Given the description of an element on the screen output the (x, y) to click on. 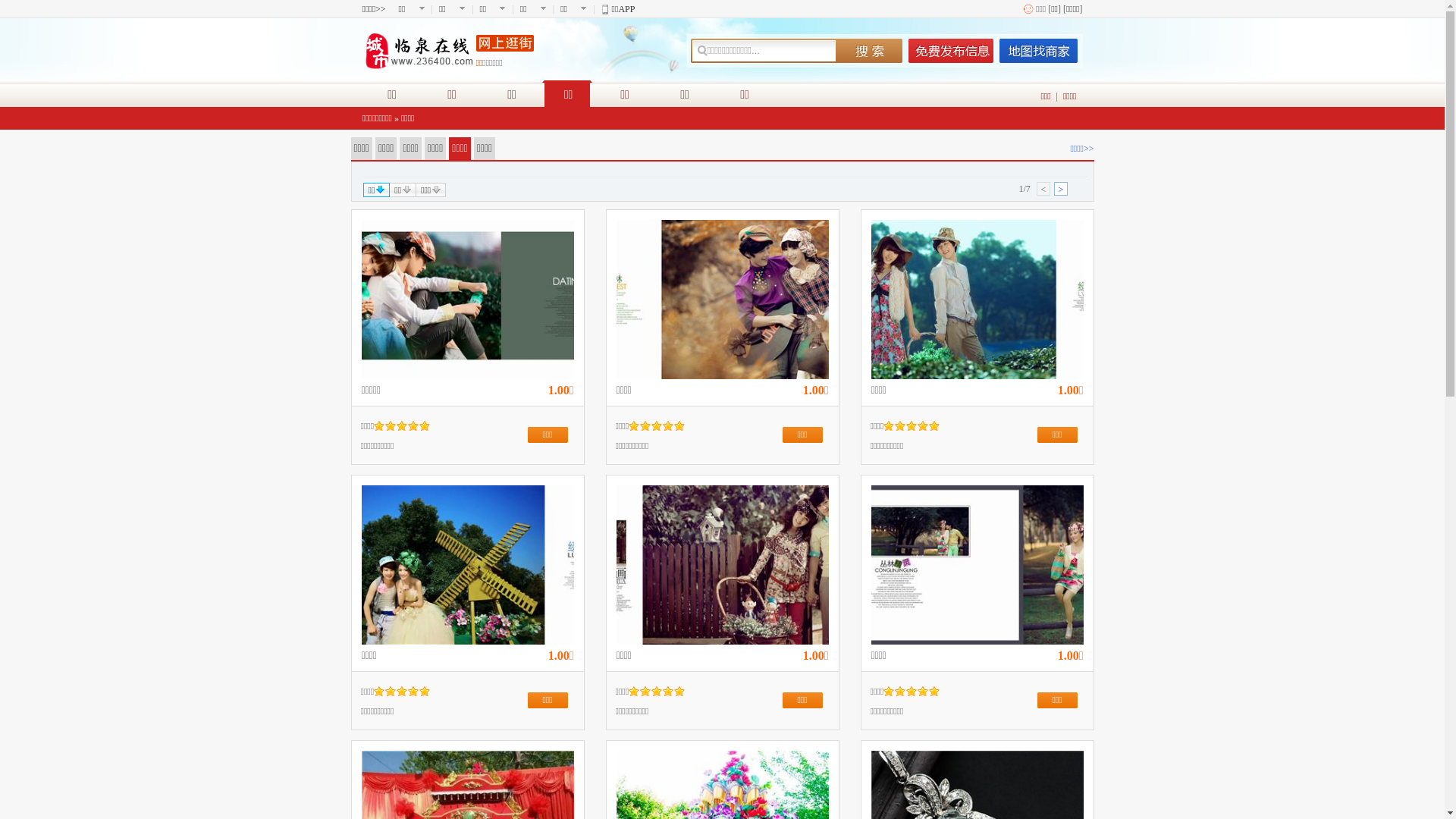
> Element type: text (1060, 188)
